Given the description of an element on the screen output the (x, y) to click on. 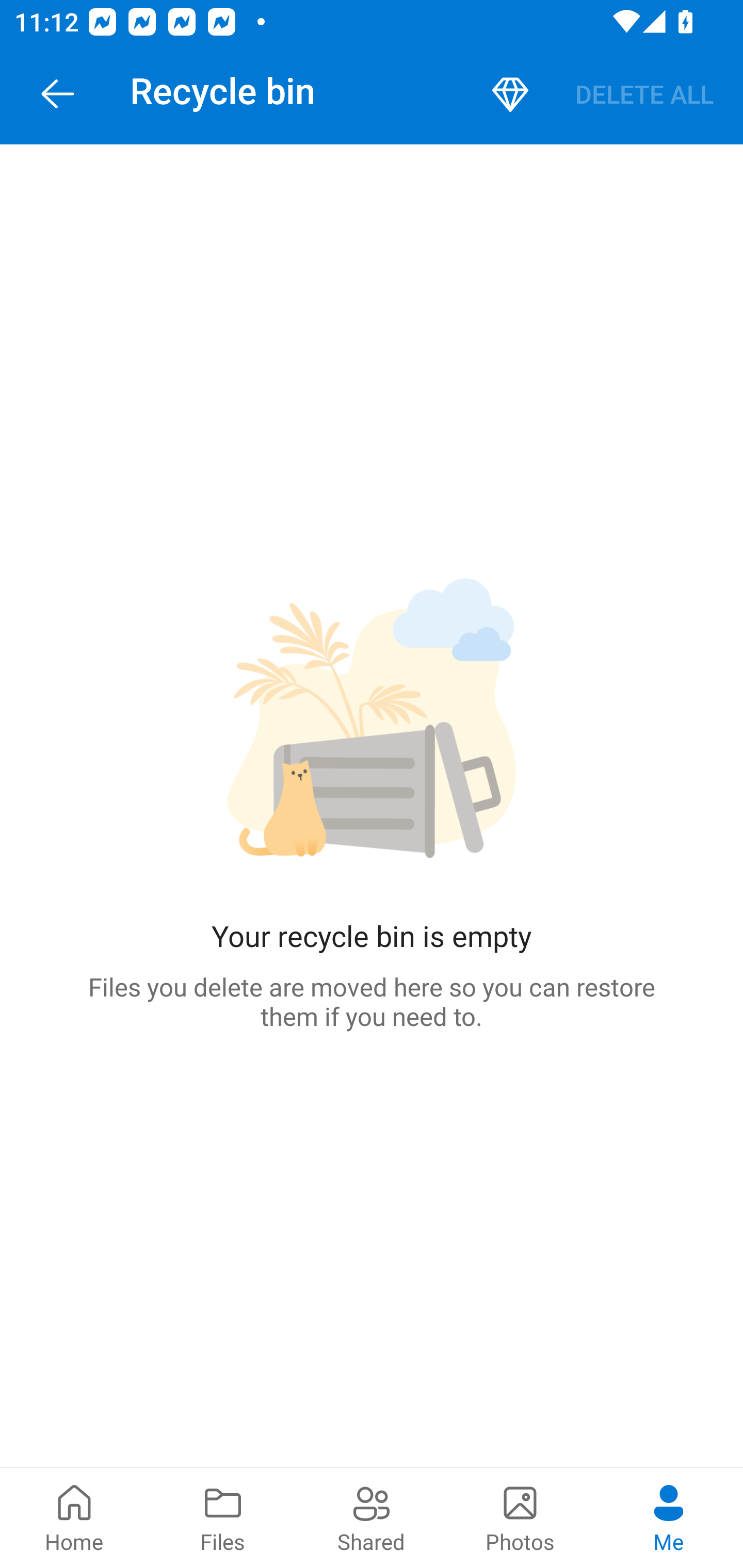
Navigate Up (57, 93)
Premium button (509, 93)
DELETE ALL Delete all button (644, 93)
Home pivot Home (74, 1517)
Files pivot Files (222, 1517)
Shared pivot Shared (371, 1517)
Photos pivot Photos (519, 1517)
